Given the description of an element on the screen output the (x, y) to click on. 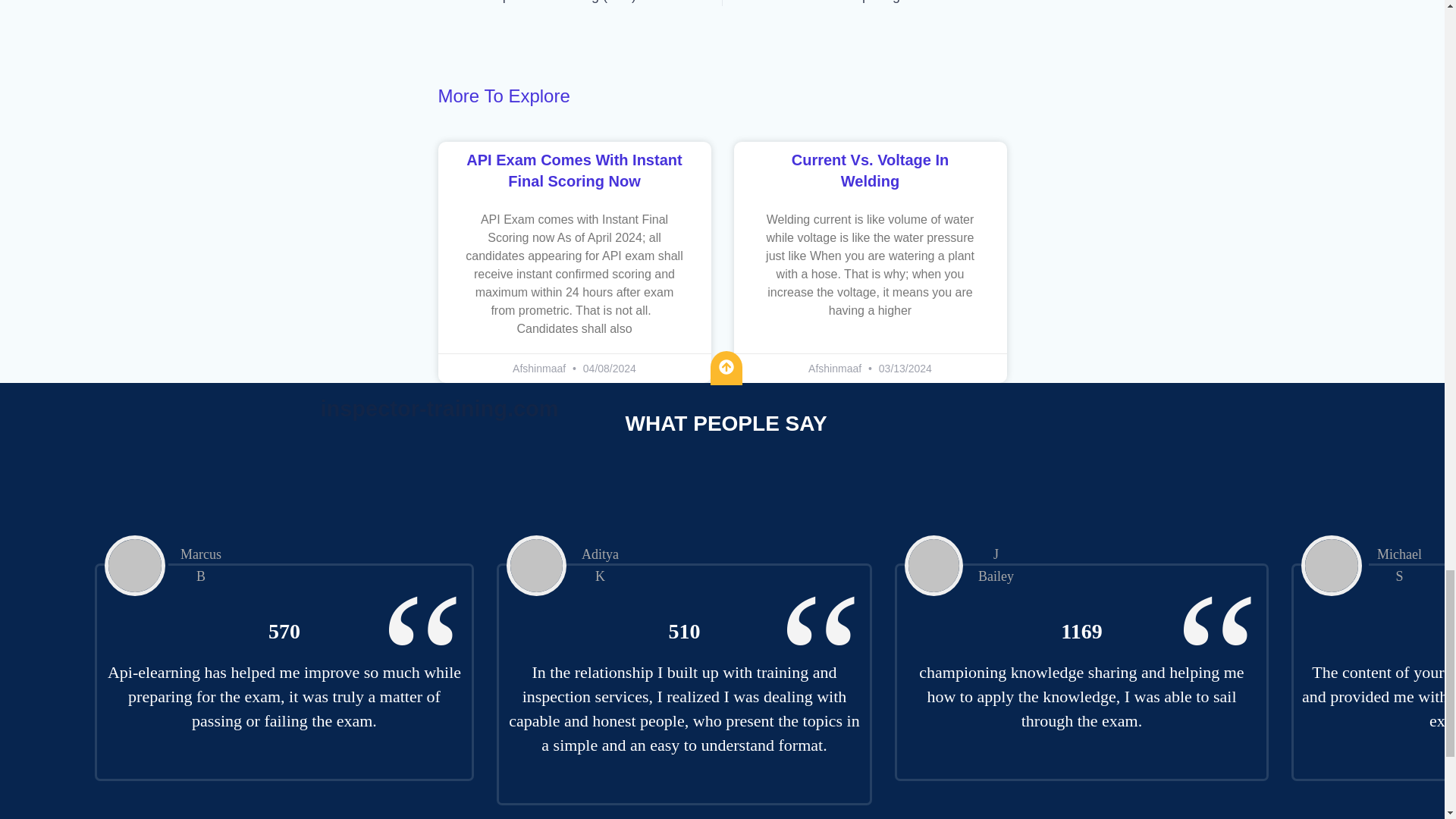
AK (536, 565)
JBB (933, 565)
MS (1331, 565)
MB (134, 565)
